Given the description of an element on the screen output the (x, y) to click on. 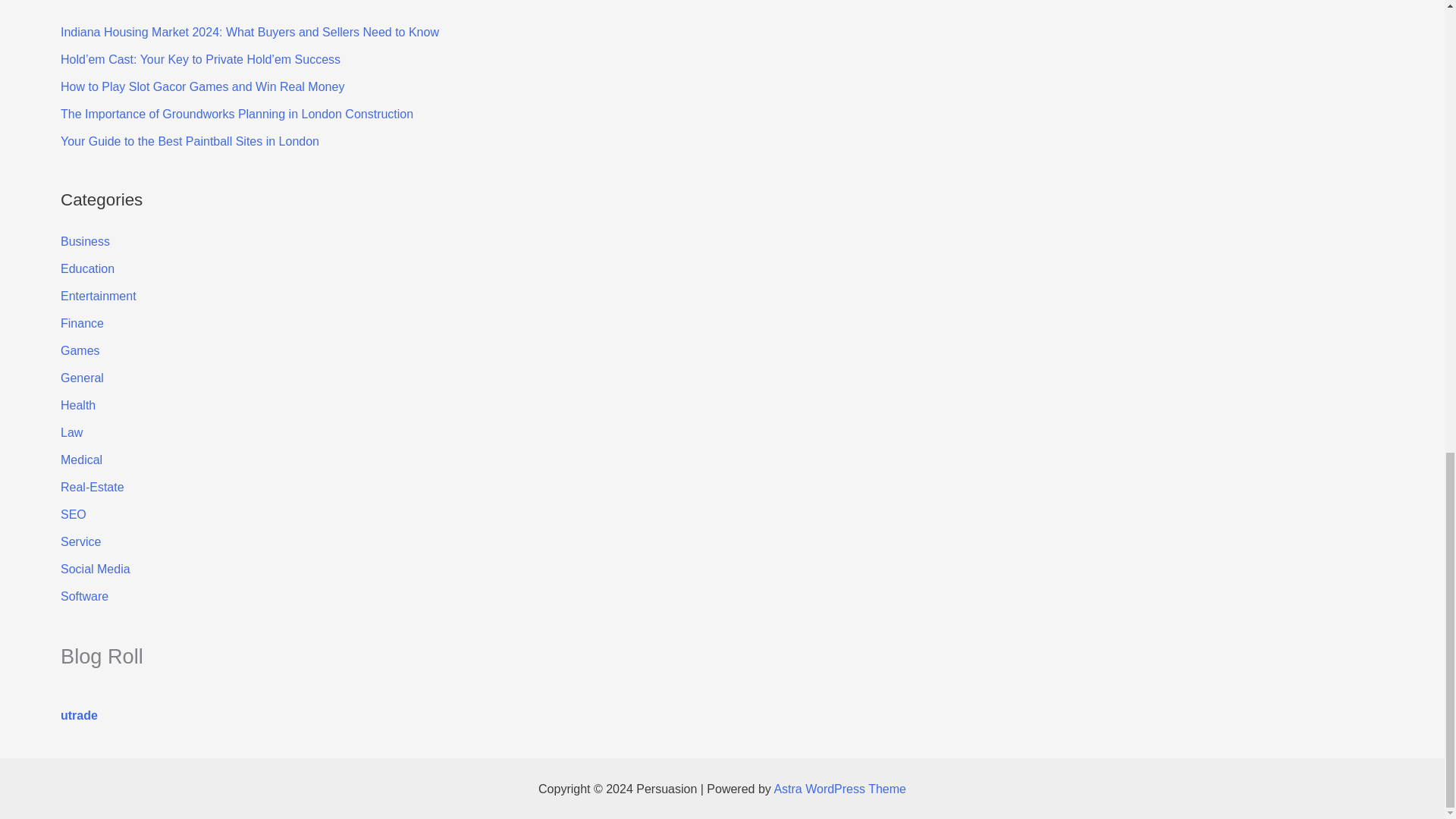
Games (80, 350)
How to Play Slot Gacor Games and Win Real Money (202, 86)
Your Guide to the Best Paintball Sites in London (189, 141)
Medical (81, 459)
Finance (82, 323)
General (82, 377)
Law (71, 431)
Real-Estate (92, 486)
Health (78, 404)
